Given the description of an element on the screen output the (x, y) to click on. 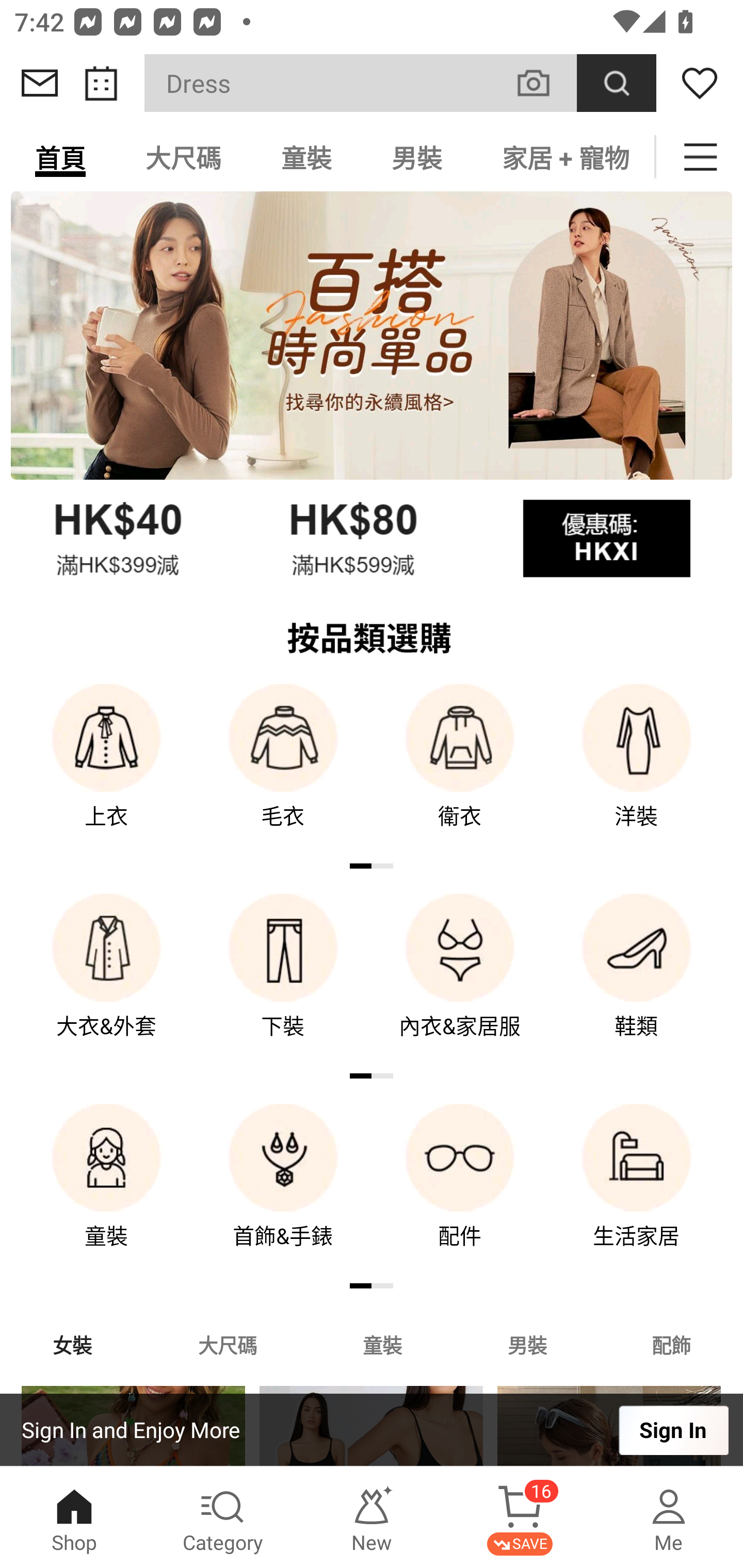
Wishlist (699, 82)
VISUAL SEARCH (543, 82)
首頁 (60, 156)
大尺碼 (183, 156)
童裝 (306, 156)
男裝 (416, 156)
家居 + 寵物 (563, 156)
上衣 (105, 769)
毛衣 (282, 769)
衛衣 (459, 769)
洋裝 (636, 769)
大衣&外套 (105, 979)
下裝 (282, 979)
內衣&家居服 (459, 979)
鞋類 (636, 979)
童裝 (105, 1189)
首飾&手錶 (282, 1189)
配件 (459, 1189)
生活家居 (636, 1189)
女裝 (72, 1344)
大尺碼 (226, 1344)
童裝 (381, 1344)
男裝 (527, 1344)
配飾 (671, 1344)
Sign In and Enjoy More Sign In (371, 1429)
Category (222, 1517)
New (371, 1517)
Cart 16 SAVE (519, 1517)
Me (668, 1517)
